Given the description of an element on the screen output the (x, y) to click on. 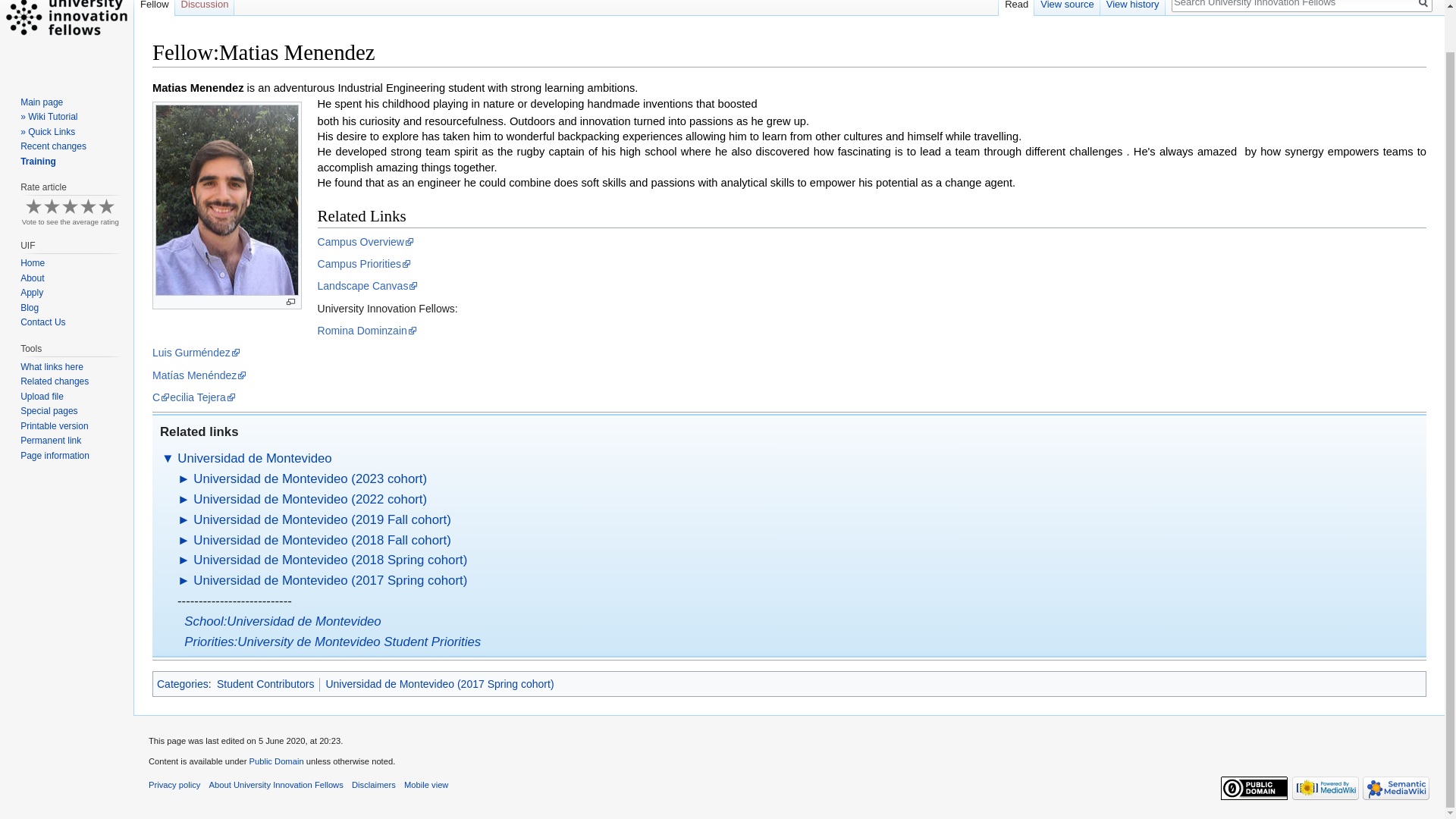
collapse (167, 458)
Category:Universidad de Montevideo (254, 458)
Fellow (153, 8)
Romina Dominzain (366, 330)
expand (183, 540)
Universidad de Montevideo (254, 458)
expand (183, 478)
Campus Overview (365, 241)
Campus Priorities (363, 263)
expand (183, 519)
ecilia Tejera (202, 397)
C (161, 397)
Go (1423, 5)
Enlarge (291, 302)
